Given the description of an element on the screen output the (x, y) to click on. 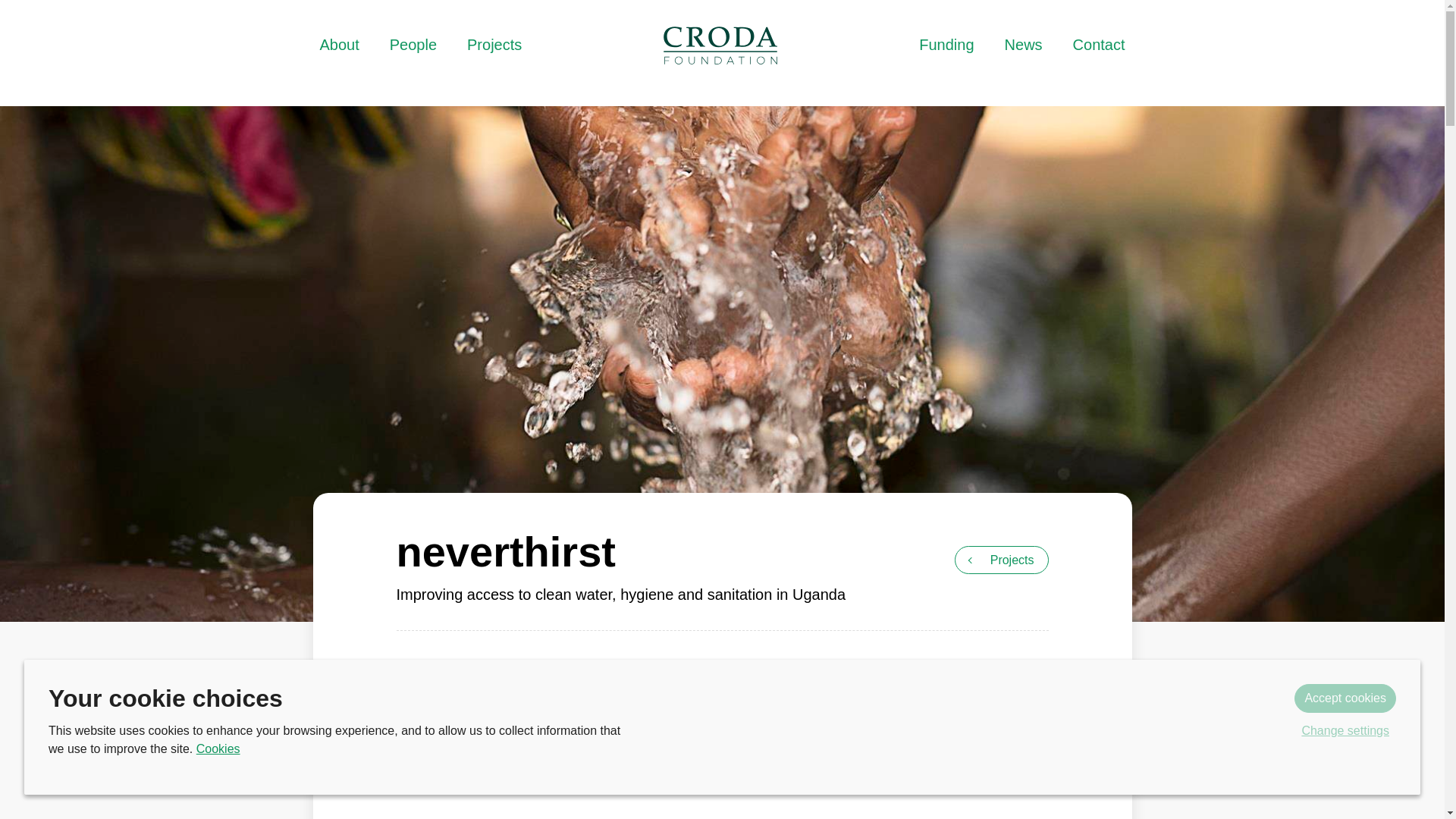
Projects (494, 44)
Cookies (218, 748)
News (1023, 44)
People (413, 44)
Change settings (1345, 730)
Projects (1001, 560)
About (338, 44)
Projects (1001, 560)
Contact (1099, 44)
Accept cookies (1345, 697)
Funding (946, 44)
